Given the description of an element on the screen output the (x, y) to click on. 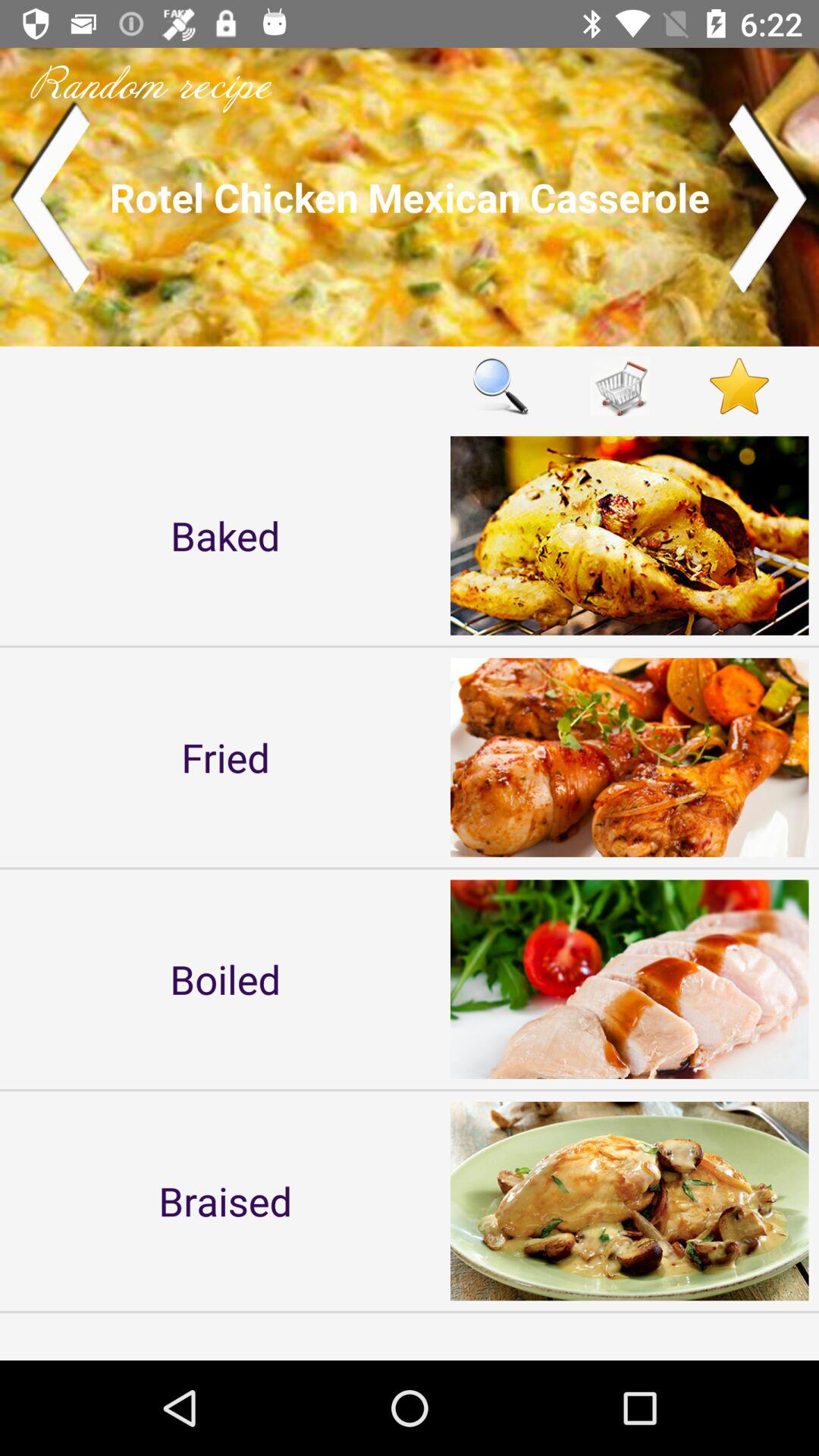
turn on item below baked (225, 756)
